Given the description of an element on the screen output the (x, y) to click on. 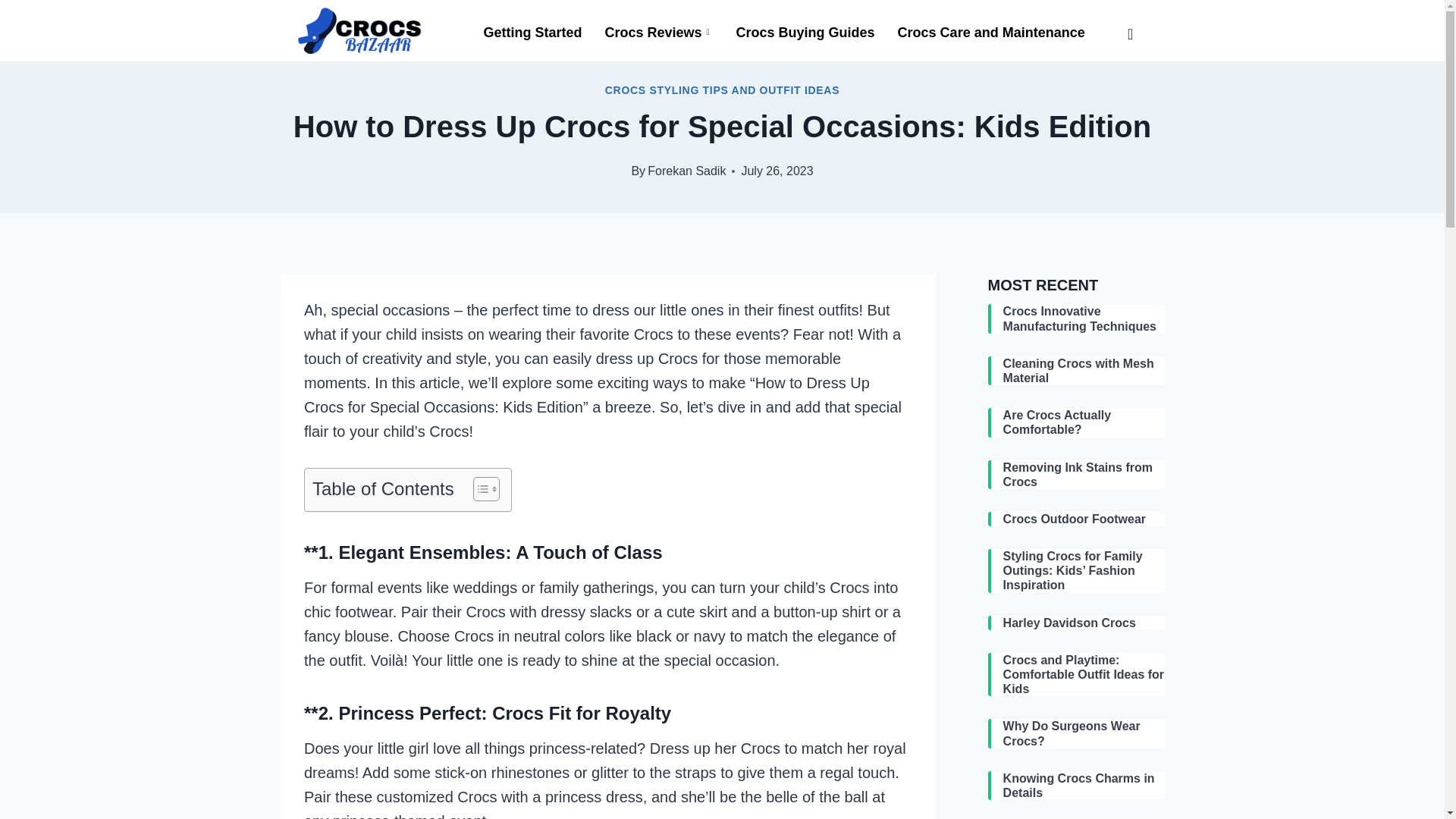
Crocs Buying Guides (805, 32)
Crocs Innovative Manufacturing Techniques (1083, 317)
Crocs Care and Maintenance (991, 32)
Cleaning Crocs with Mesh Material (1083, 370)
Are Crocs Actually Comfortable? (1083, 421)
Getting Started (531, 32)
Crocs Reviews (657, 32)
Forekan Sadik (686, 170)
CROCS STYLING TIPS AND OUTFIT IDEAS (722, 90)
